Given the description of an element on the screen output the (x, y) to click on. 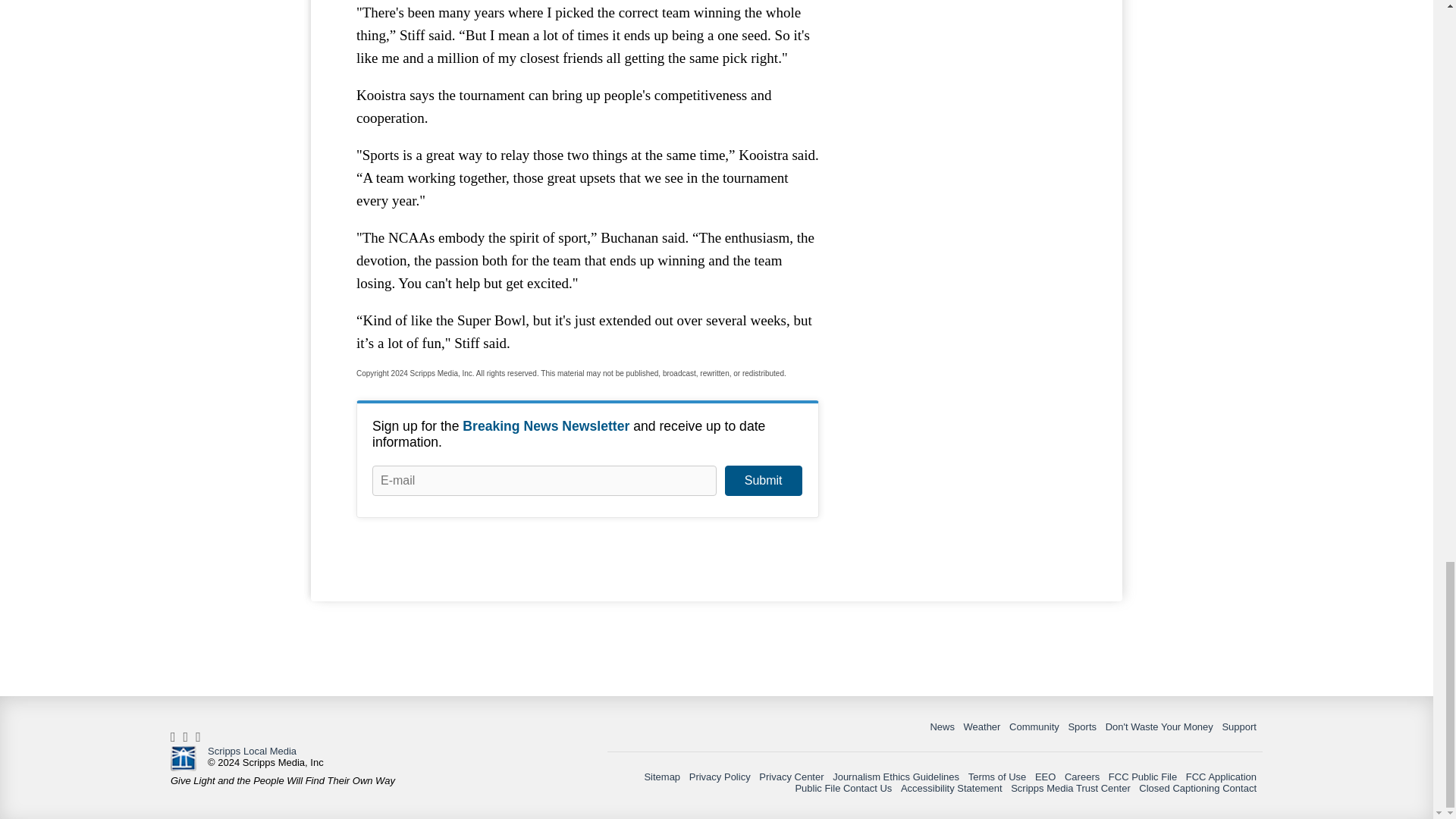
Submit (763, 481)
